Given the description of an element on the screen output the (x, y) to click on. 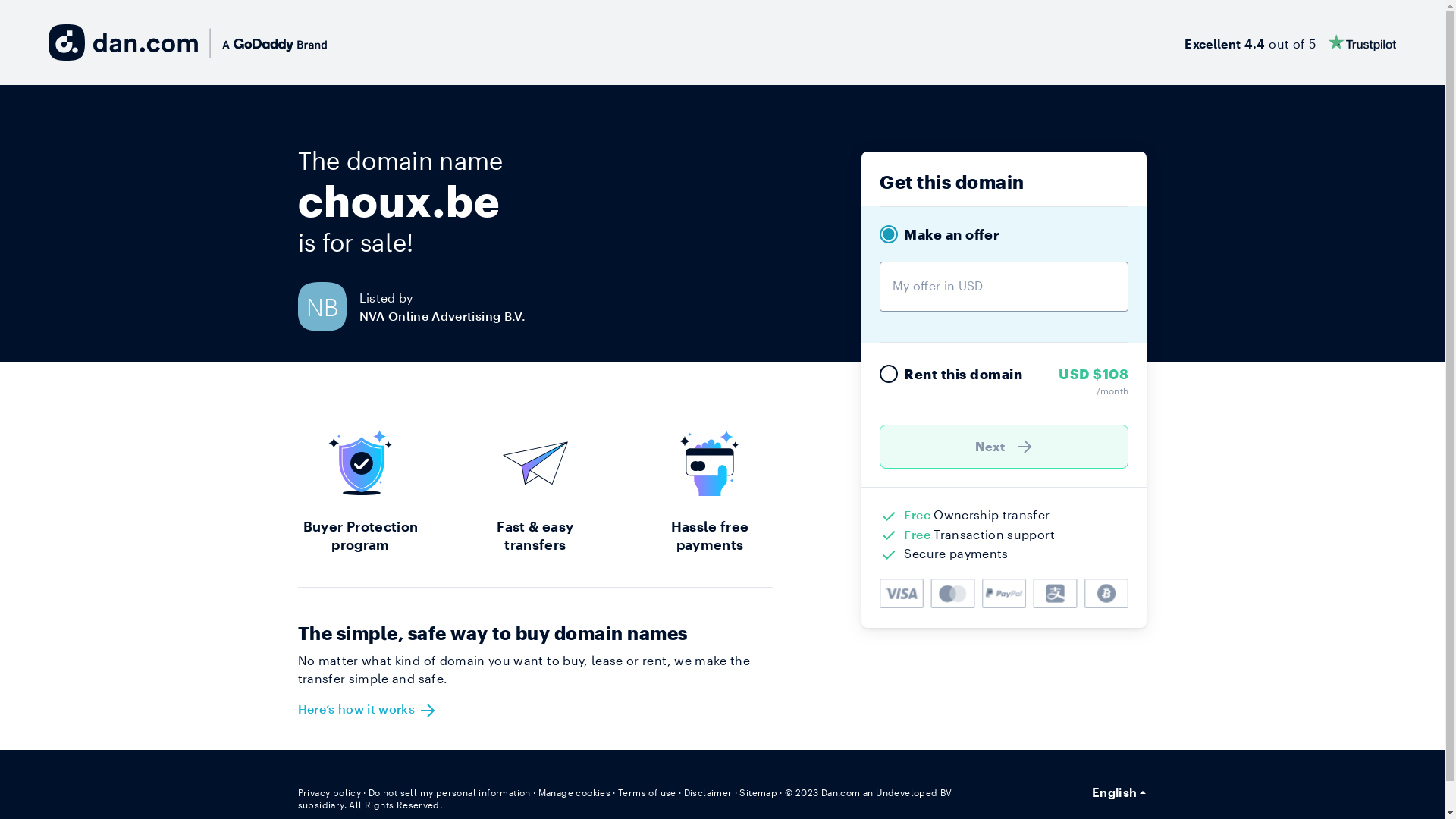
Sitemap Element type: text (758, 792)
Manage cookies Element type: text (574, 792)
Disclaimer Element type: text (708, 792)
Next
) Element type: text (1003, 446)
Terms of use Element type: text (647, 792)
Excellent 4.4 out of 5 Element type: text (1290, 42)
Do not sell my personal information Element type: text (449, 792)
English Element type: text (1119, 792)
Privacy policy Element type: text (328, 792)
